Given the description of an element on the screen output the (x, y) to click on. 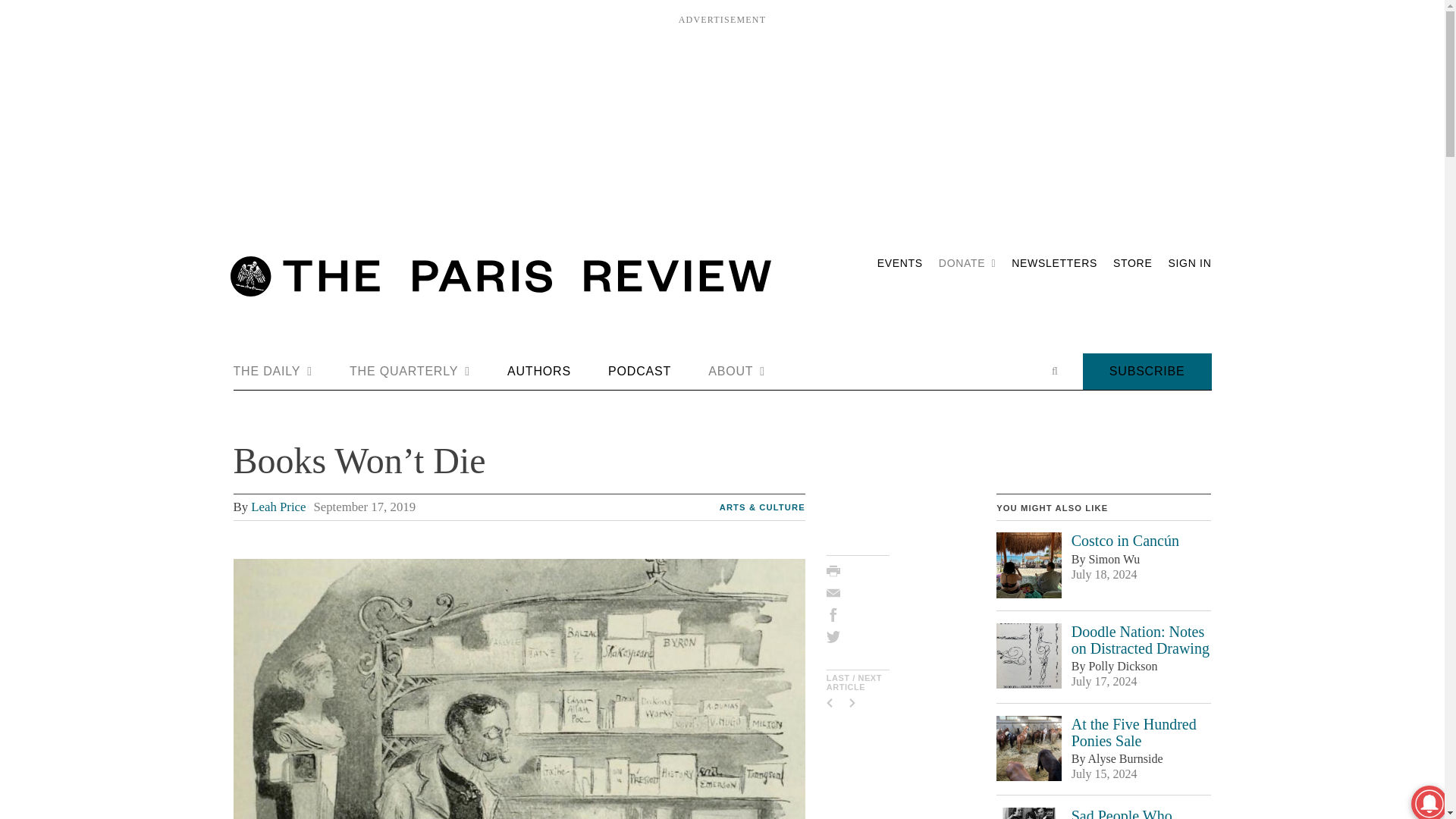
Open search (1054, 371)
Posts by Leah Price (277, 507)
THE QUARTERLY (409, 371)
THE DAILY (272, 371)
